Given the description of an element on the screen output the (x, y) to click on. 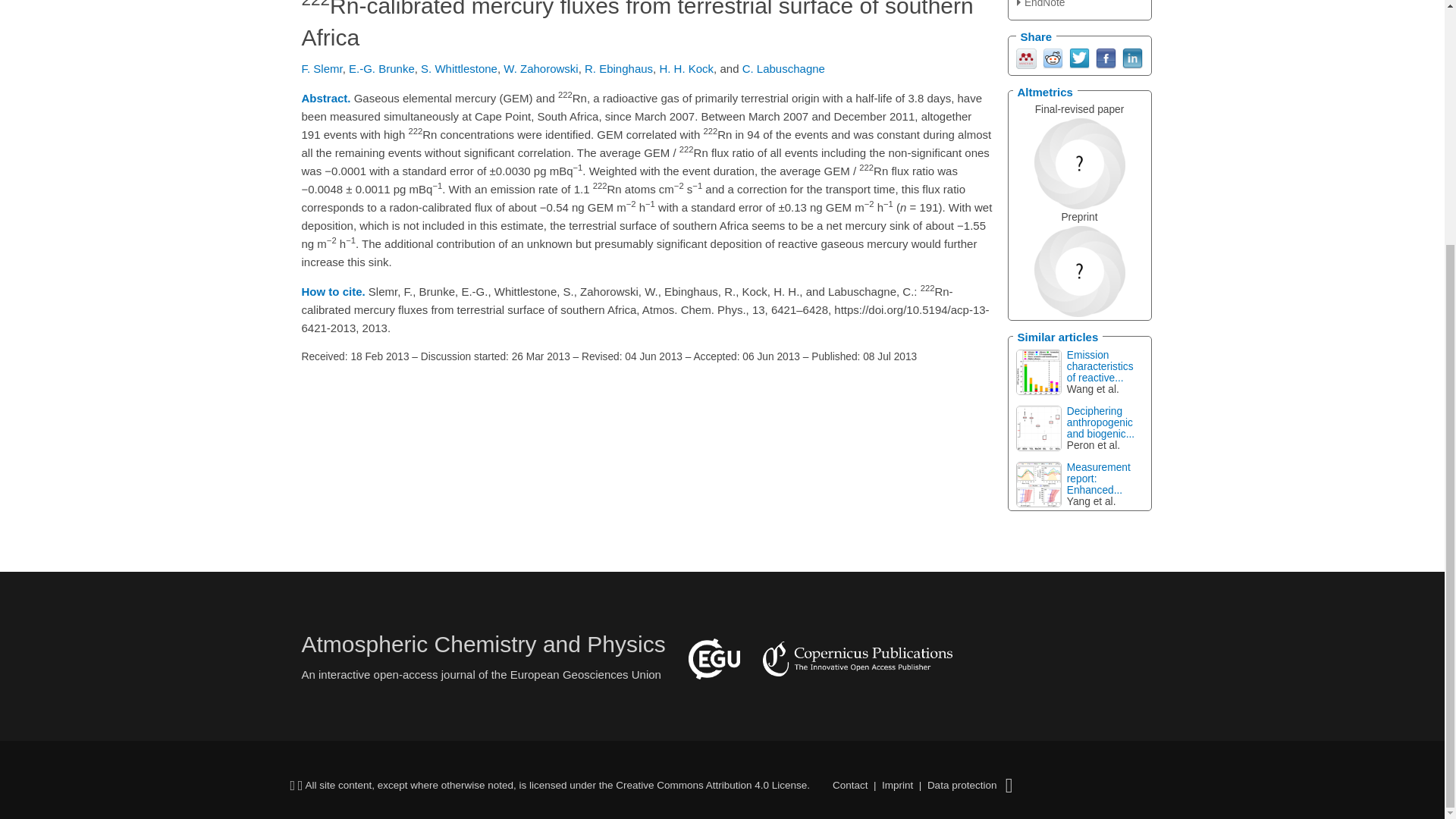
Twitter (1078, 56)
Mendeley (1026, 56)
Reddit (1052, 56)
Facebook (1104, 56)
